Given the description of an element on the screen output the (x, y) to click on. 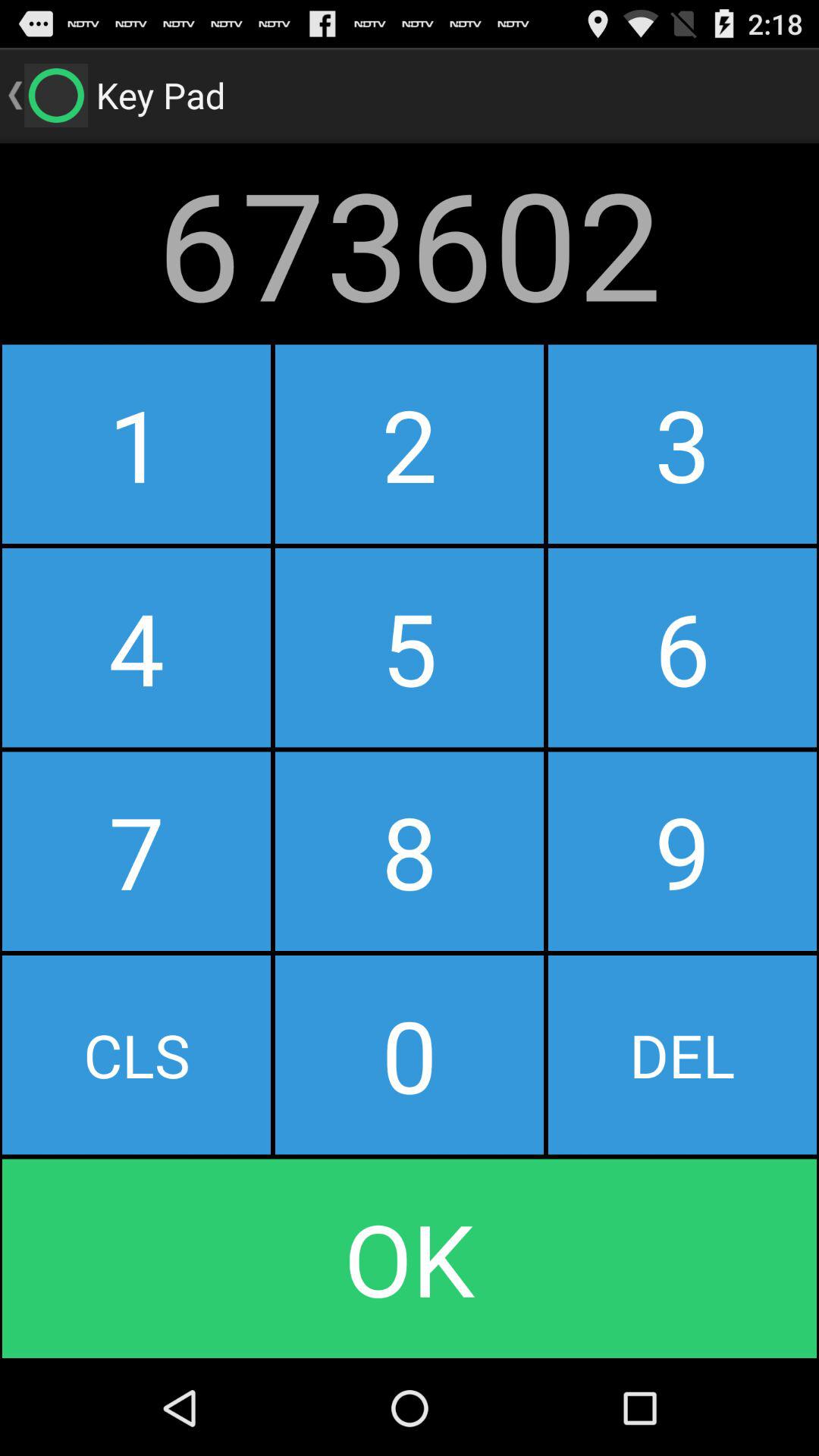
turn off button next to the 5 (682, 850)
